Given the description of an element on the screen output the (x, y) to click on. 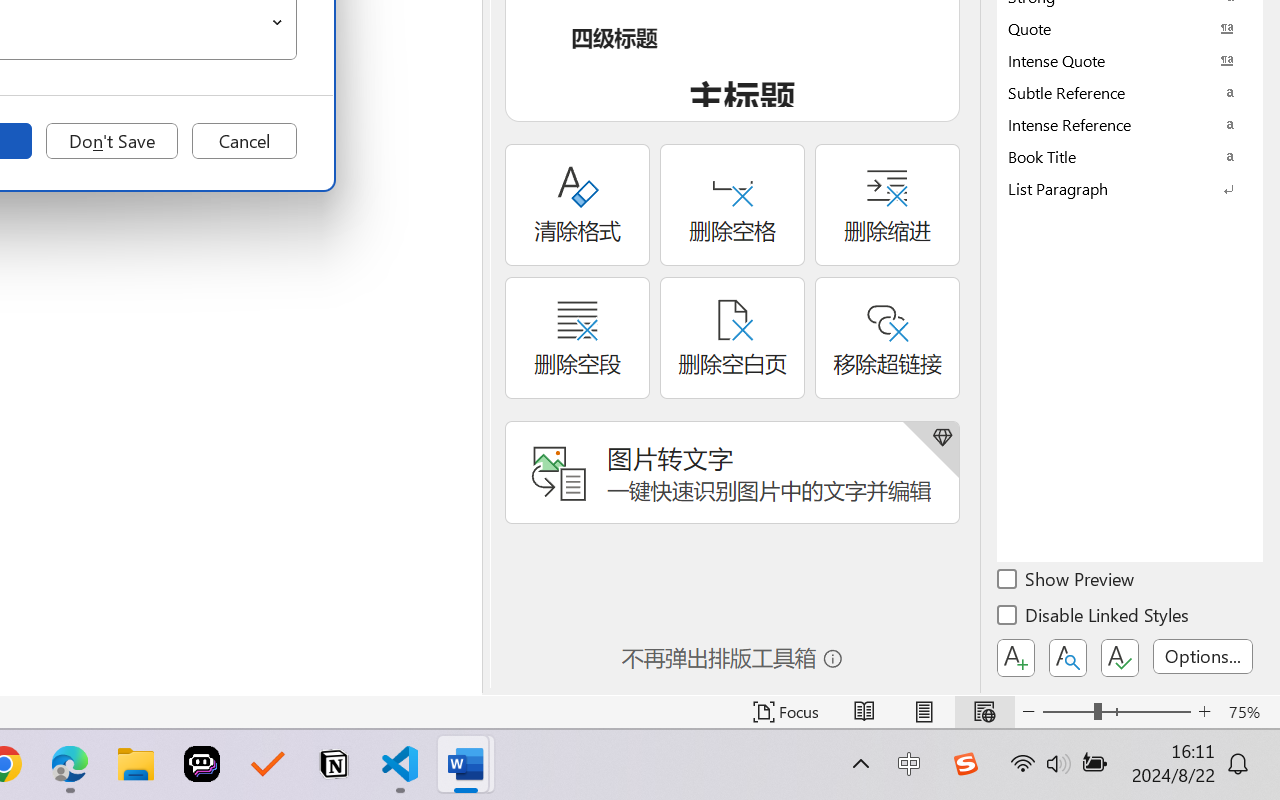
Notion (333, 764)
Don't Save (111, 141)
Intense Quote (1130, 60)
List Paragraph (1130, 188)
Quote (1130, 28)
